Given the description of an element on the screen output the (x, y) to click on. 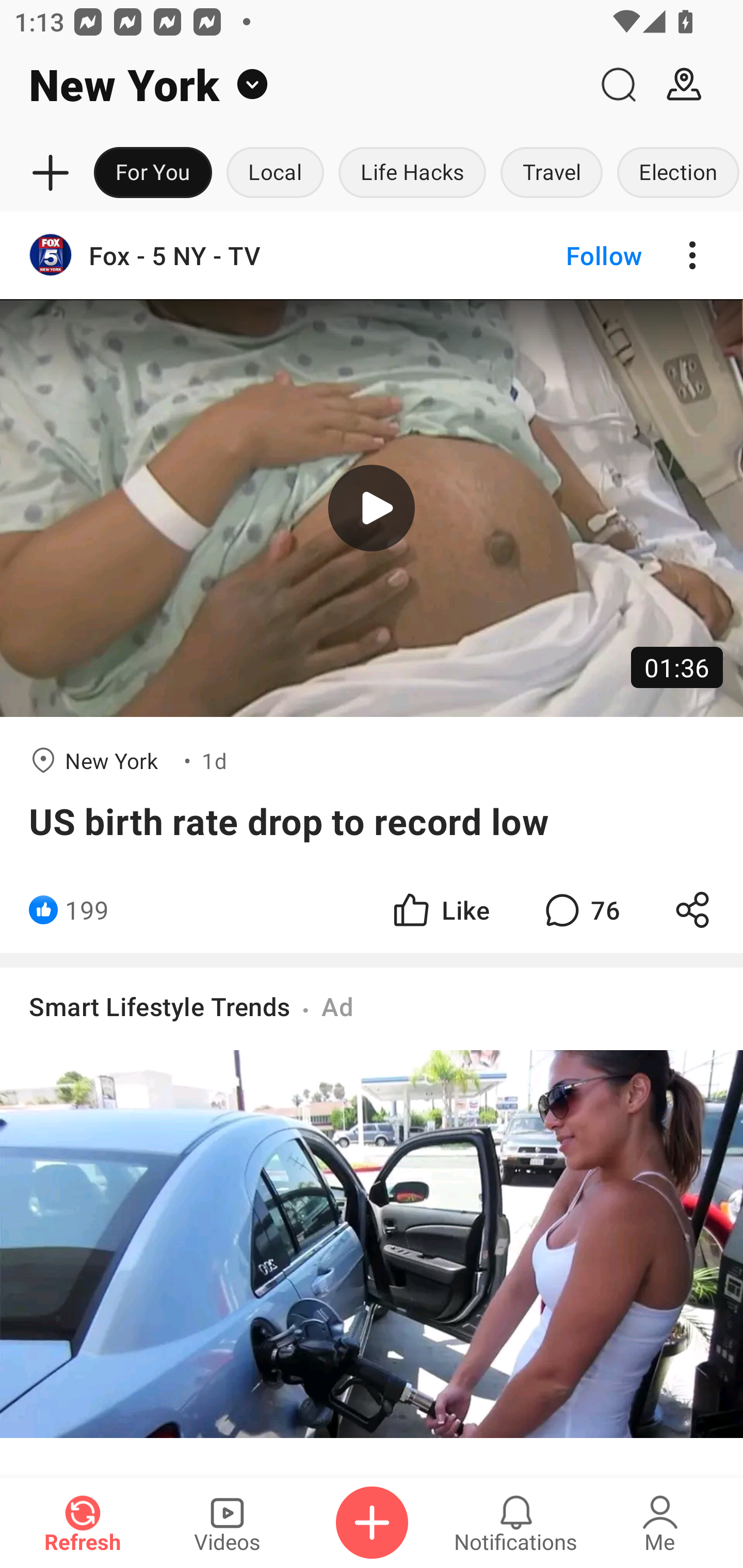
New York (292, 84)
For You (152, 172)
Local (275, 172)
Life Hacks (412, 172)
Travel (551, 172)
Election (676, 172)
Fox - 5 NY - TV Follow (371, 255)
Follow (569, 255)
US birth rate drop to record low (371, 820)
199 (87, 910)
Like (439, 910)
76 (579, 910)
Smart Lifestyle Trends (159, 1006)
Videos (227, 1522)
Notifications (516, 1522)
Me (659, 1522)
